Given the description of an element on the screen output the (x, y) to click on. 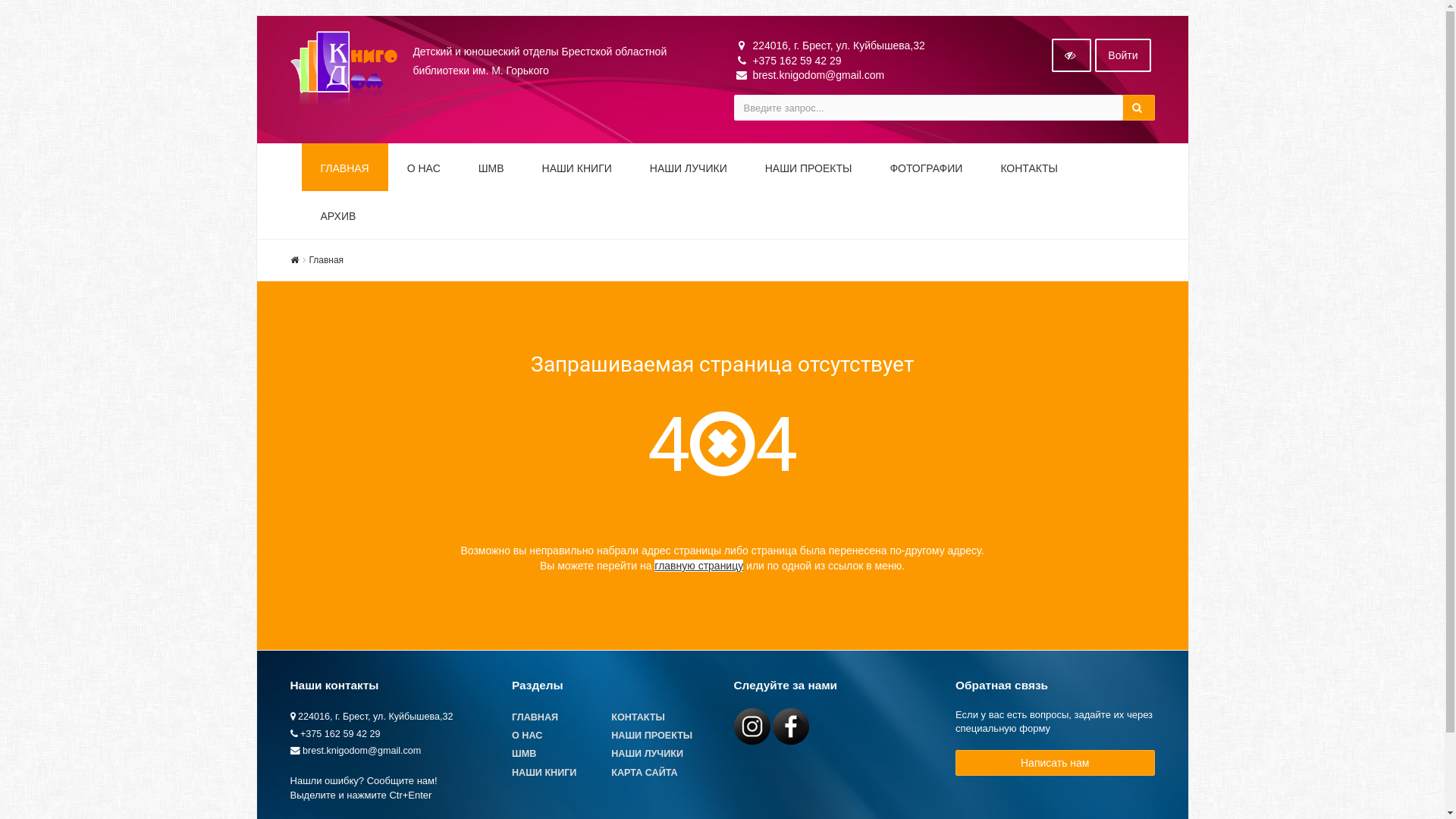
Instagram Element type: hover (752, 726)
Facebook Element type: hover (790, 726)
